Given the description of an element on the screen output the (x, y) to click on. 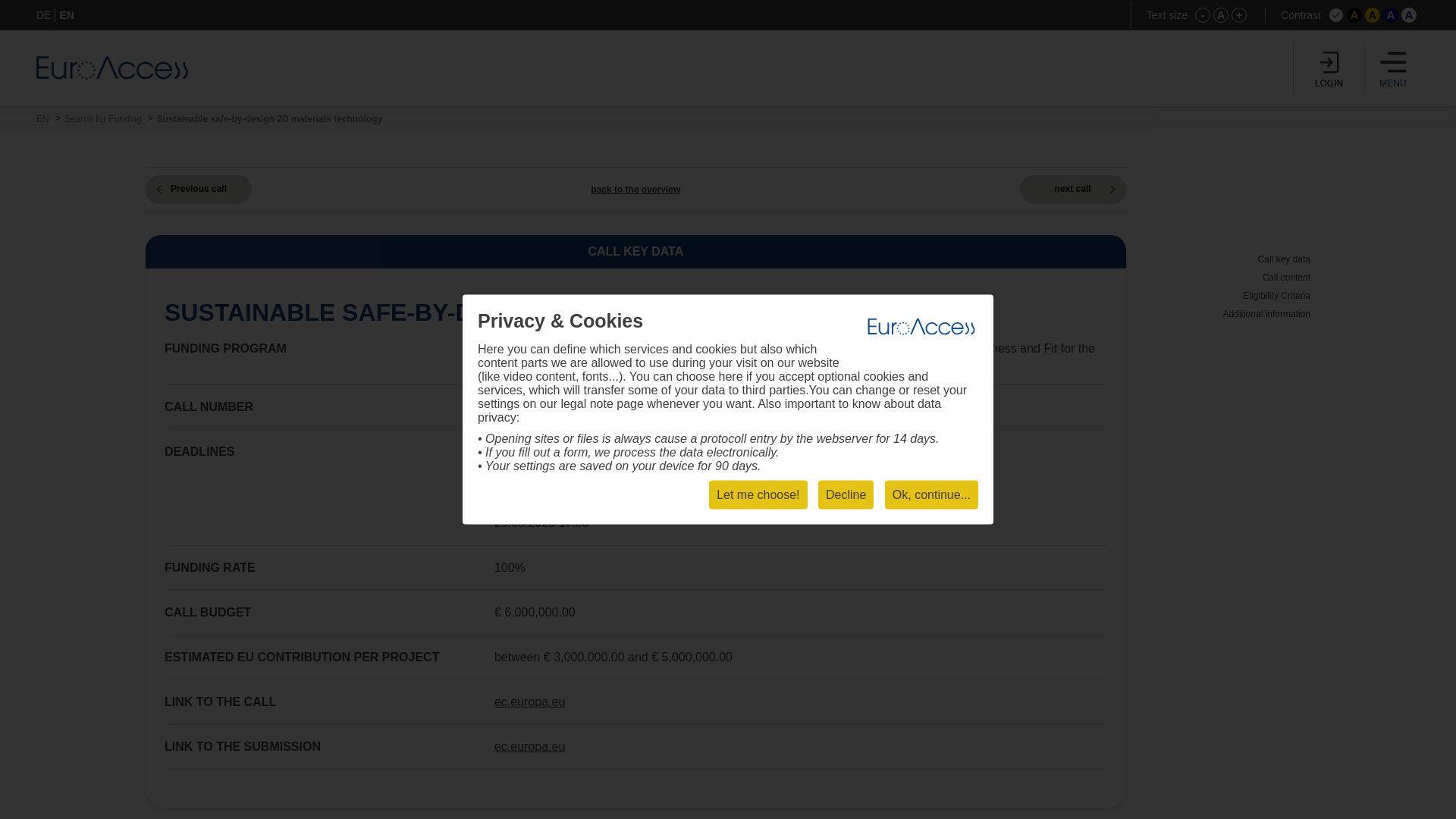
A (1390, 14)
A (1220, 14)
DE (43, 15)
A (1408, 14)
A (1372, 14)
Search for Funding (102, 118)
Search for Funding (102, 118)
Zur Startseite (111, 67)
MENU (1393, 68)
White on blue (1390, 14)
A (1353, 14)
EN (66, 15)
Blue on white (1408, 14)
EN (42, 118)
Black on yellow (1372, 14)
